Given the description of an element on the screen output the (x, y) to click on. 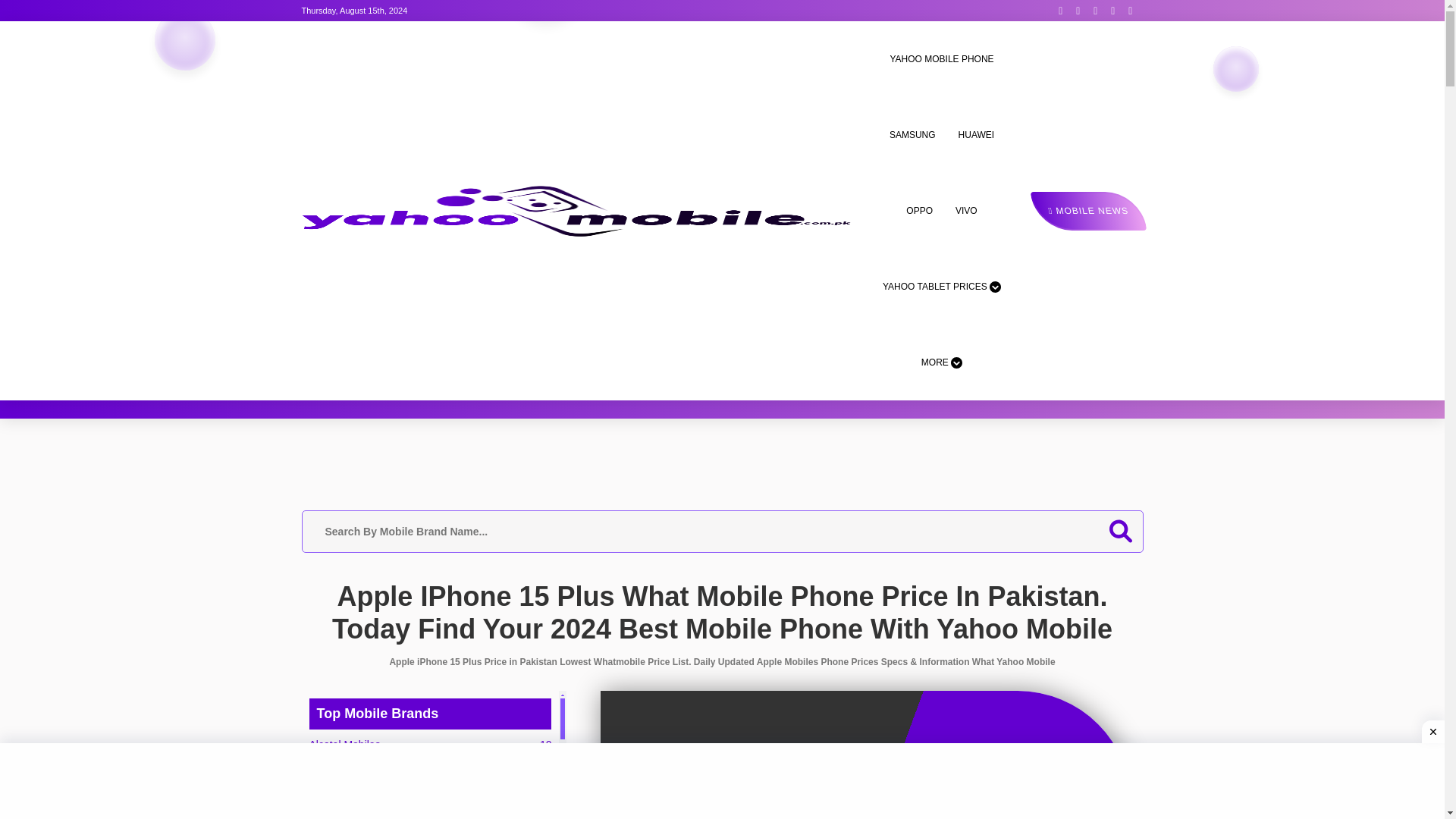
YAHOO MOBILE PHONE (940, 59)
YAHOO TABLET PRICES (941, 286)
500,000 (1021, 760)
5,000 (752, 760)
